Given the description of an element on the screen output the (x, y) to click on. 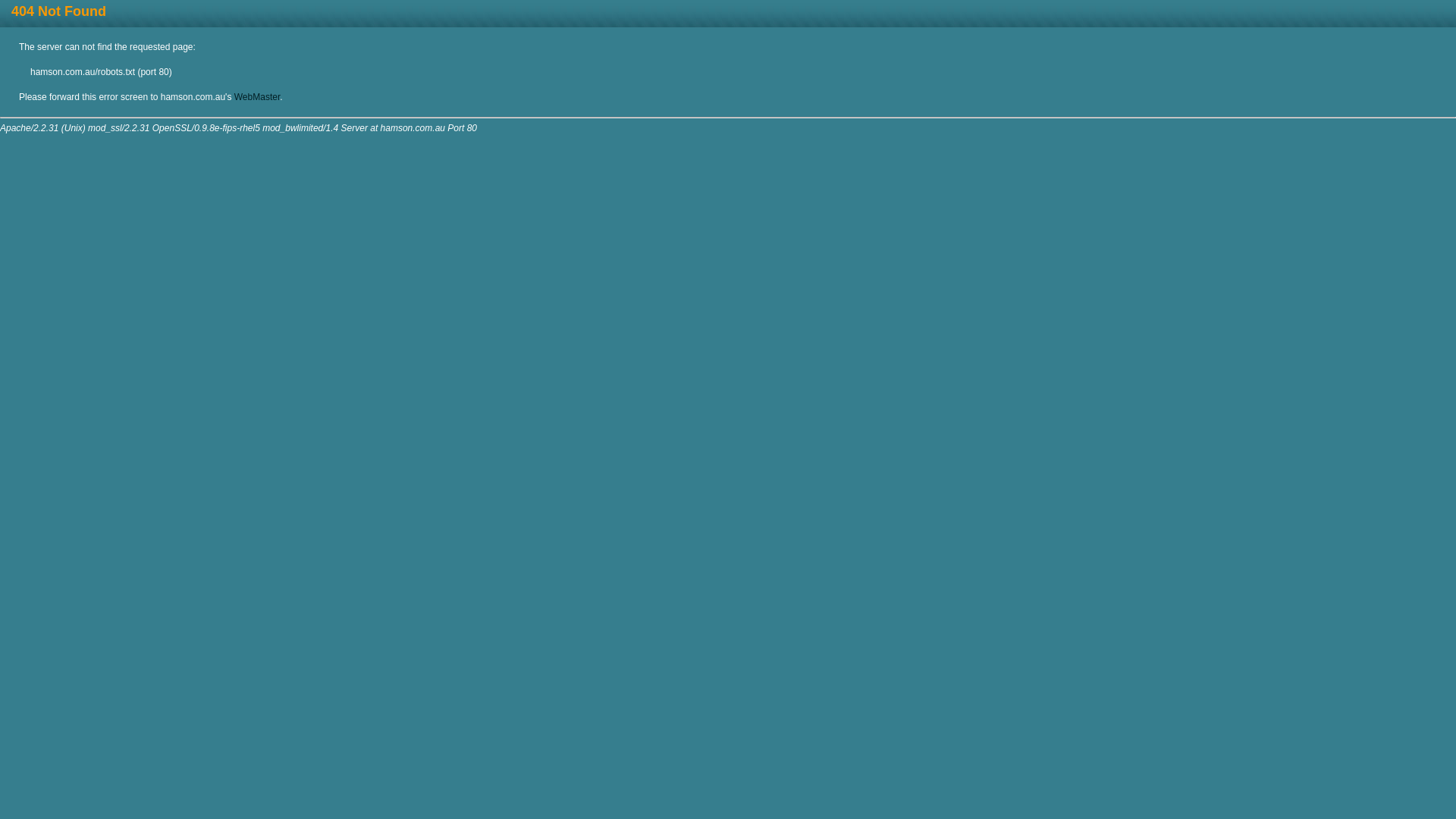
WebMaster Element type: text (256, 96)
